Given the description of an element on the screen output the (x, y) to click on. 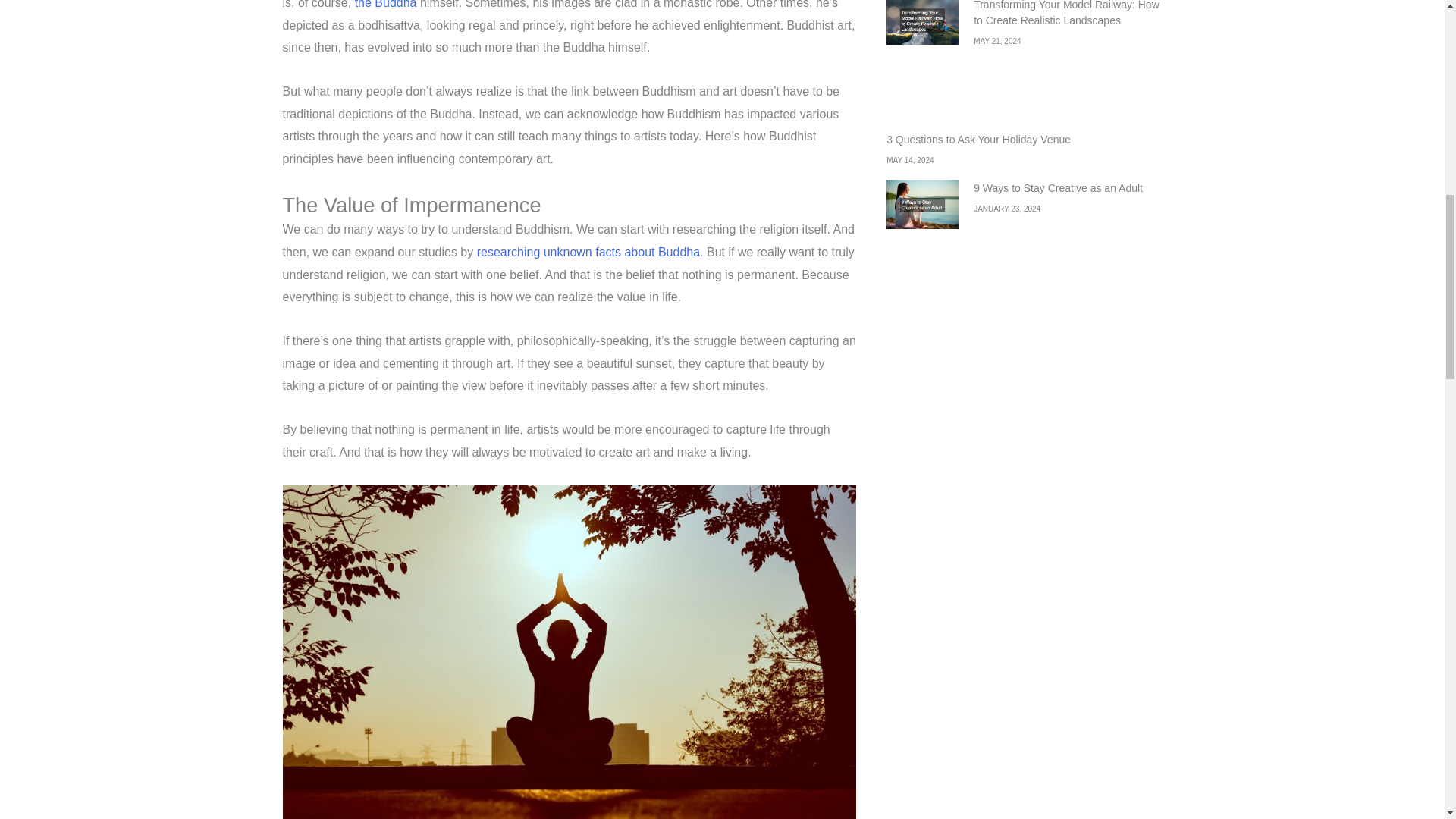
researching unknown facts about Buddha (588, 251)
9 Ways to Stay Creative as an Adult (1058, 187)
the Buddha (385, 4)
3 Questions to Ask Your Holiday Venue (978, 139)
